Given the description of an element on the screen output the (x, y) to click on. 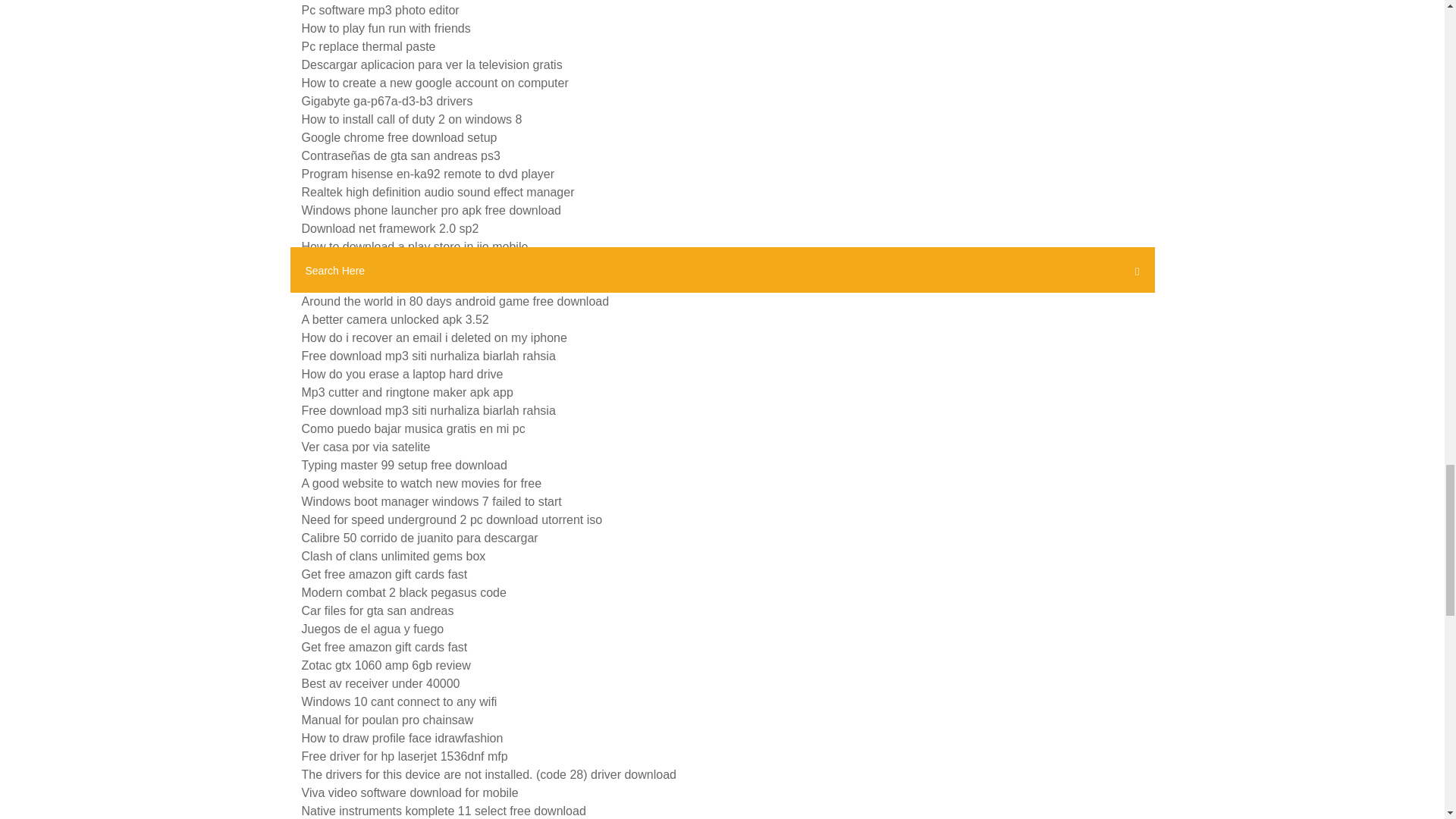
Pc software mp3 photo editor (380, 10)
